Given the description of an element on the screen output the (x, y) to click on. 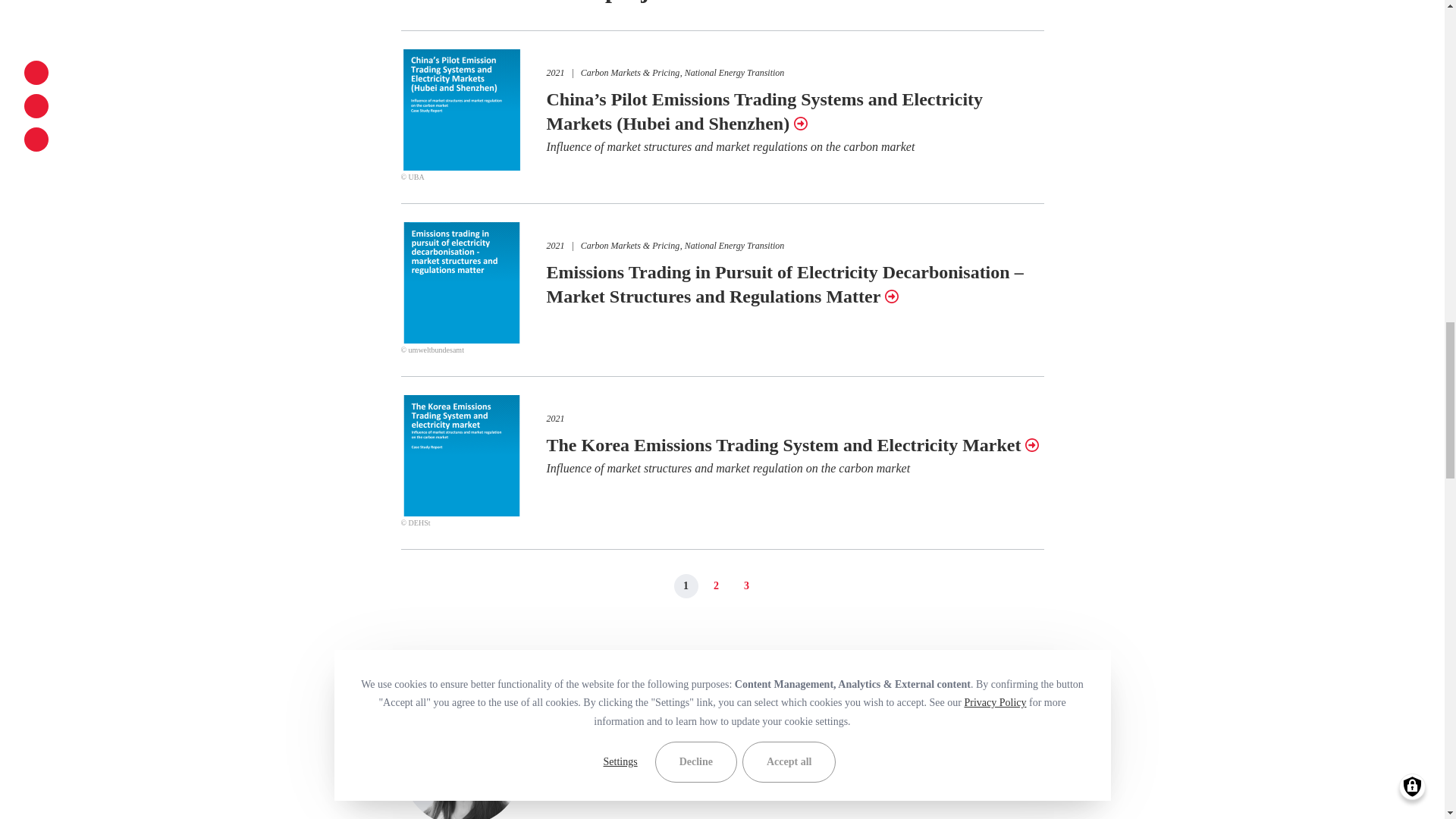
Go to next page (776, 586)
Go to page 2 (715, 586)
Go to page 3 (745, 586)
